Given the description of an element on the screen output the (x, y) to click on. 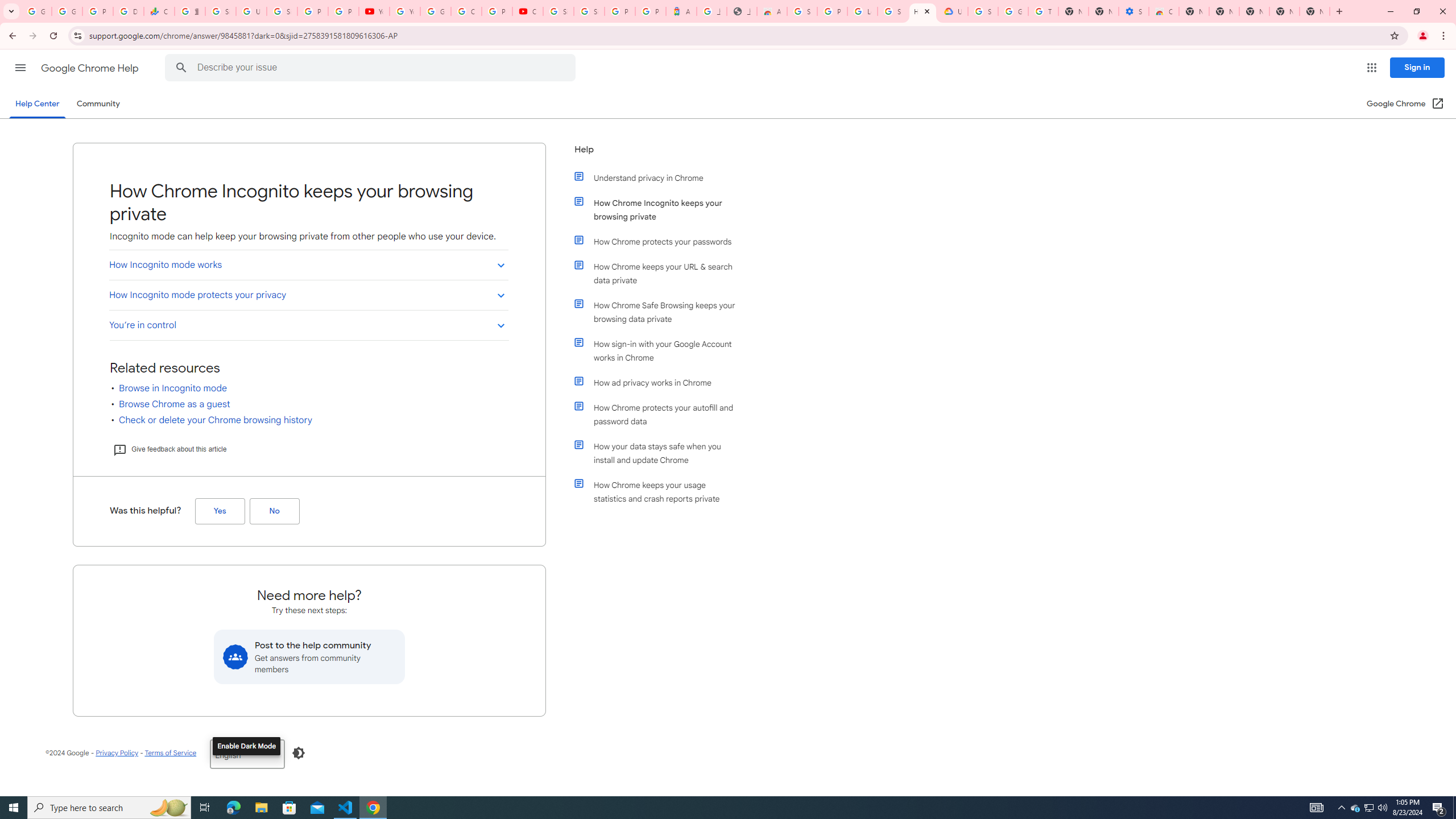
Google Account Help (434, 11)
Search Help Center (181, 67)
Enable Dark Mode (299, 752)
New Tab (1254, 11)
Sign in - Google Accounts (220, 11)
How Incognito mode works (308, 264)
New Tab (1314, 11)
